Given the description of an element on the screen output the (x, y) to click on. 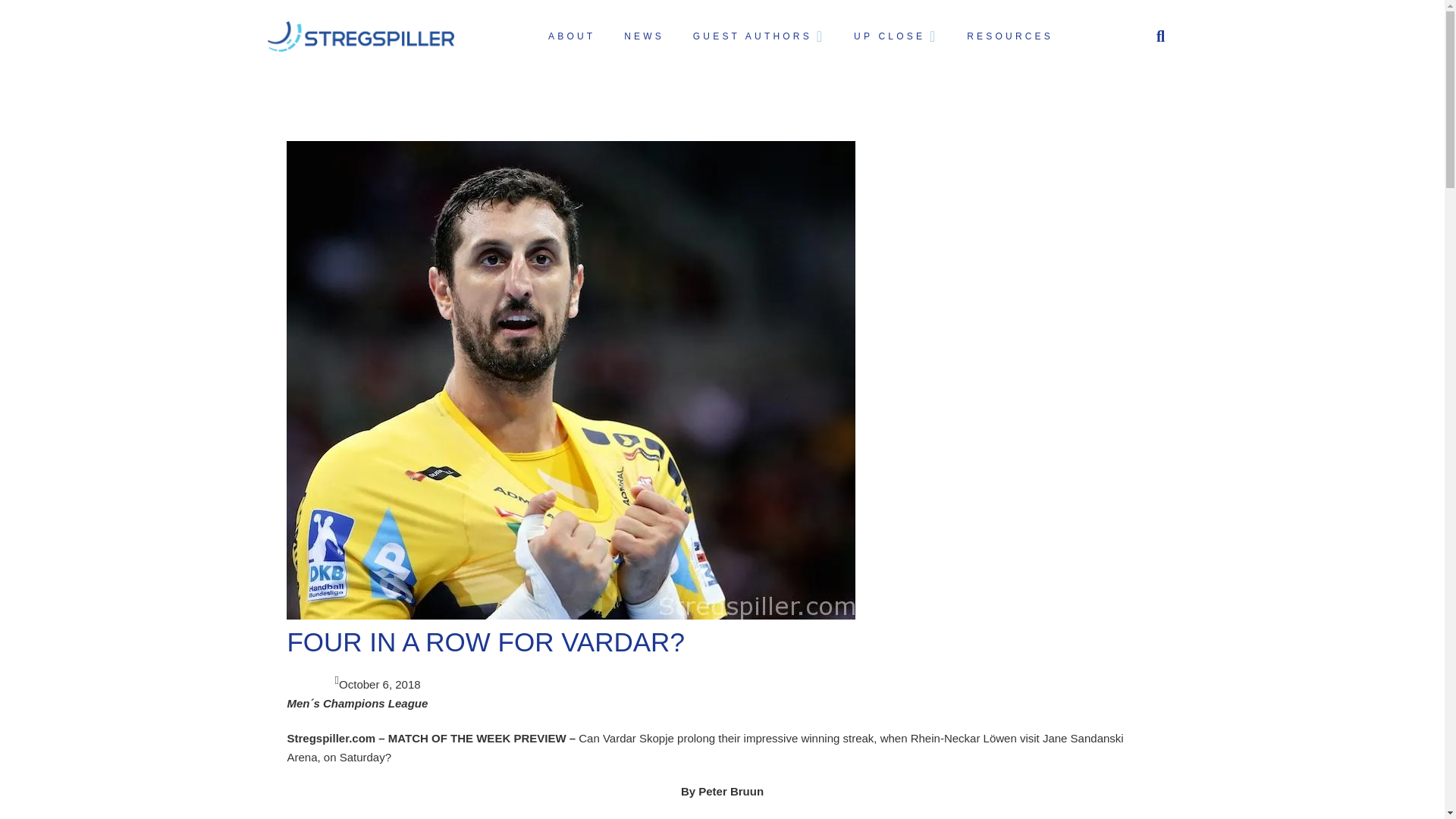
UP CLOSE (894, 36)
ABOUT (570, 36)
RESOURCES (1007, 36)
NEWS (642, 36)
GUEST AUTHORS (757, 36)
